Given the description of an element on the screen output the (x, y) to click on. 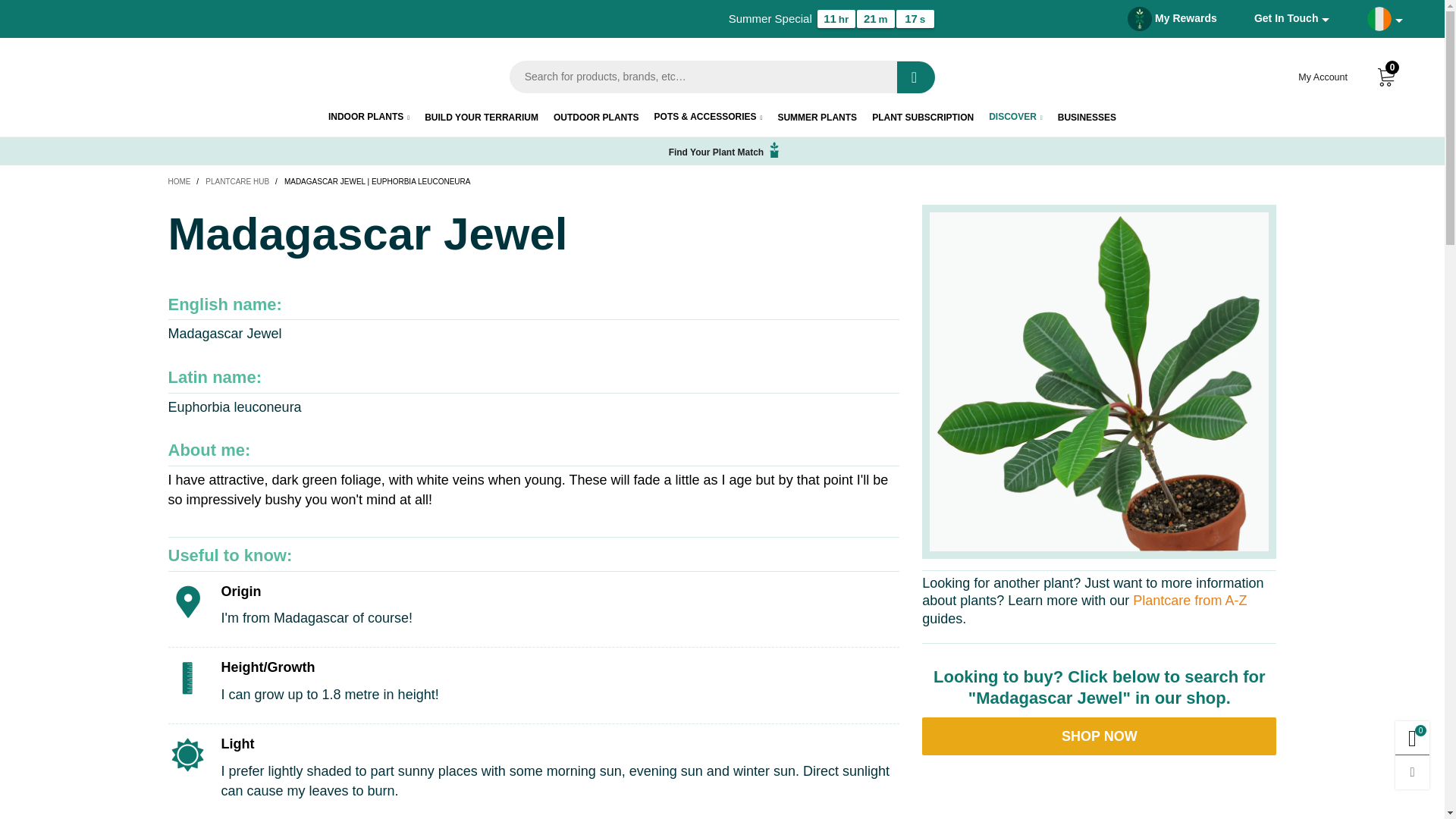
Outdoor Plants (596, 117)
Build Your Terrarium (481, 117)
My Account (1323, 75)
Discover (1015, 117)
Indoor Plants (369, 117)
Summer Plants (817, 117)
INDOOR PLANTS (369, 117)
Businesses  (1087, 117)
Cart (1385, 76)
Plant Subscription (923, 117)
Search (915, 77)
0 (1385, 76)
